Given the description of an element on the screen output the (x, y) to click on. 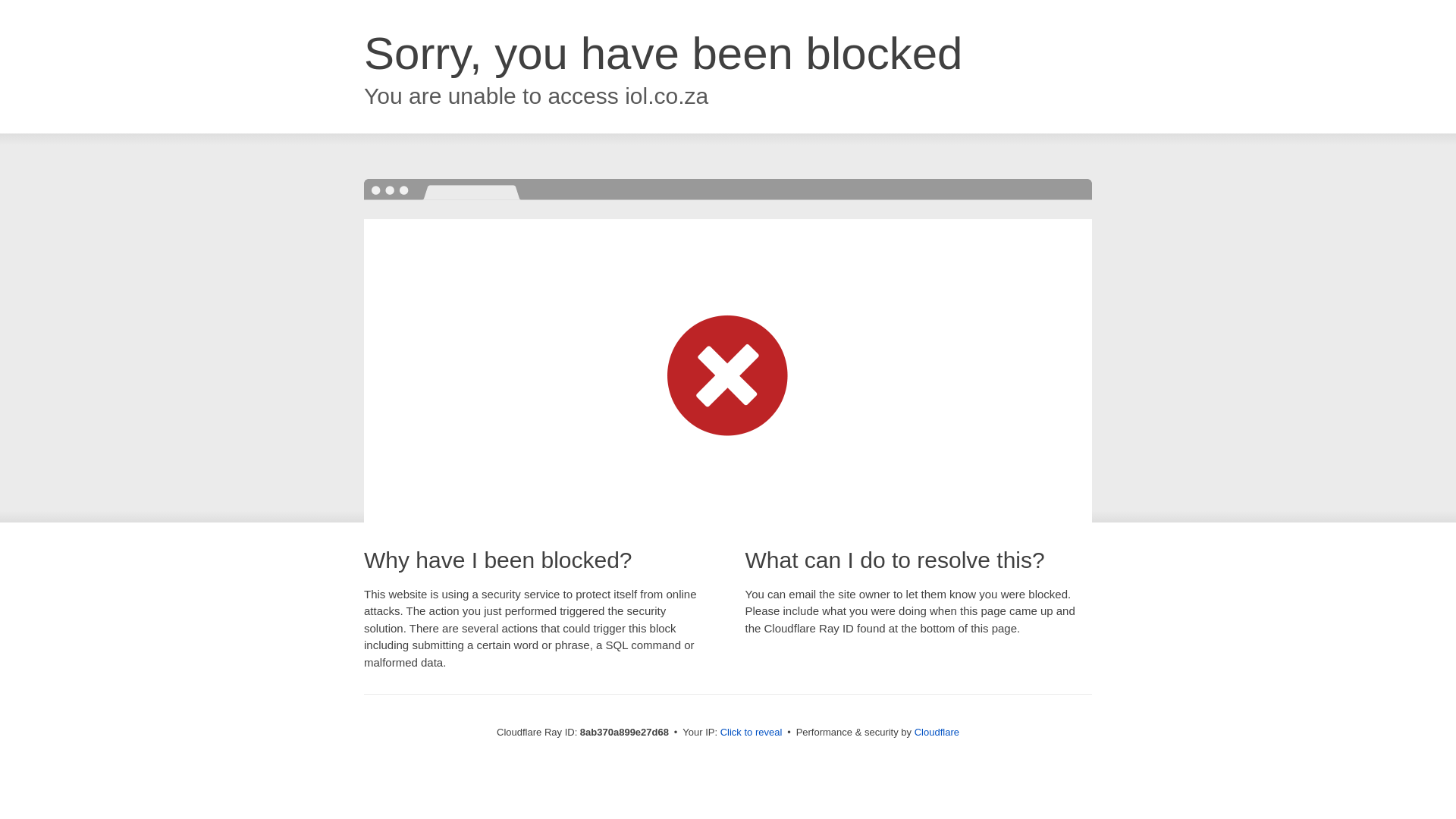
Cloudflare (936, 731)
Click to reveal (751, 732)
